Given the description of an element on the screen output the (x, y) to click on. 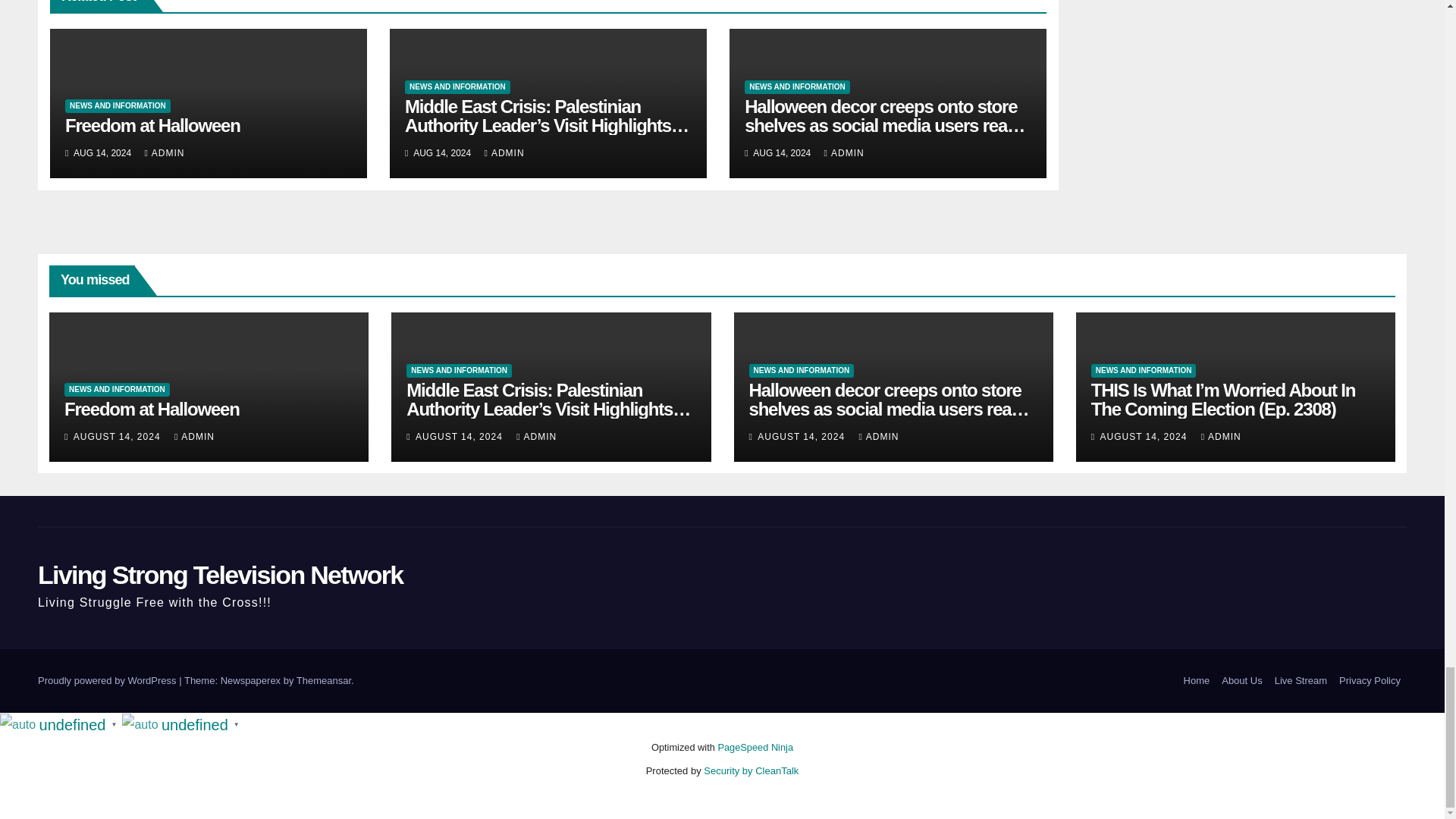
Home (1196, 680)
Permalink to: Freedom at Halloween (152, 125)
ADMIN (164, 153)
Permalink to: Freedom at Halloween (152, 408)
Freedom at Halloween (152, 125)
NEWS AND INFORMATION (117, 106)
